Given the description of an element on the screen output the (x, y) to click on. 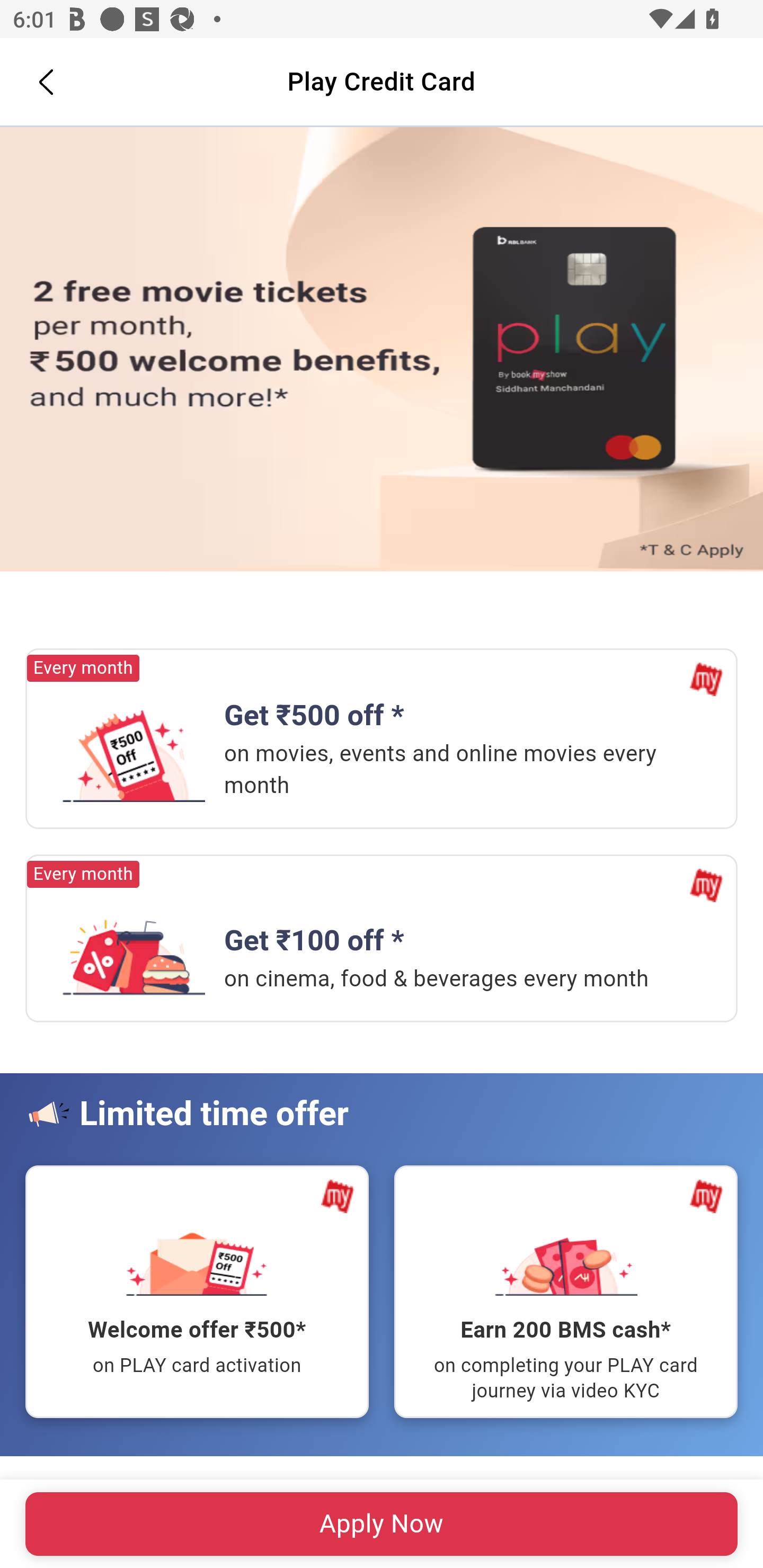
Apply Now (381, 349)
BookMyShow (706, 679)
Get ₹500 off * (133, 753)
BookMyShow (706, 885)
Get ₹100 off * (133, 947)
BookMyShow (337, 1196)
BookMyShow (706, 1196)
Apply Now (381, 1523)
